Given the description of an element on the screen output the (x, y) to click on. 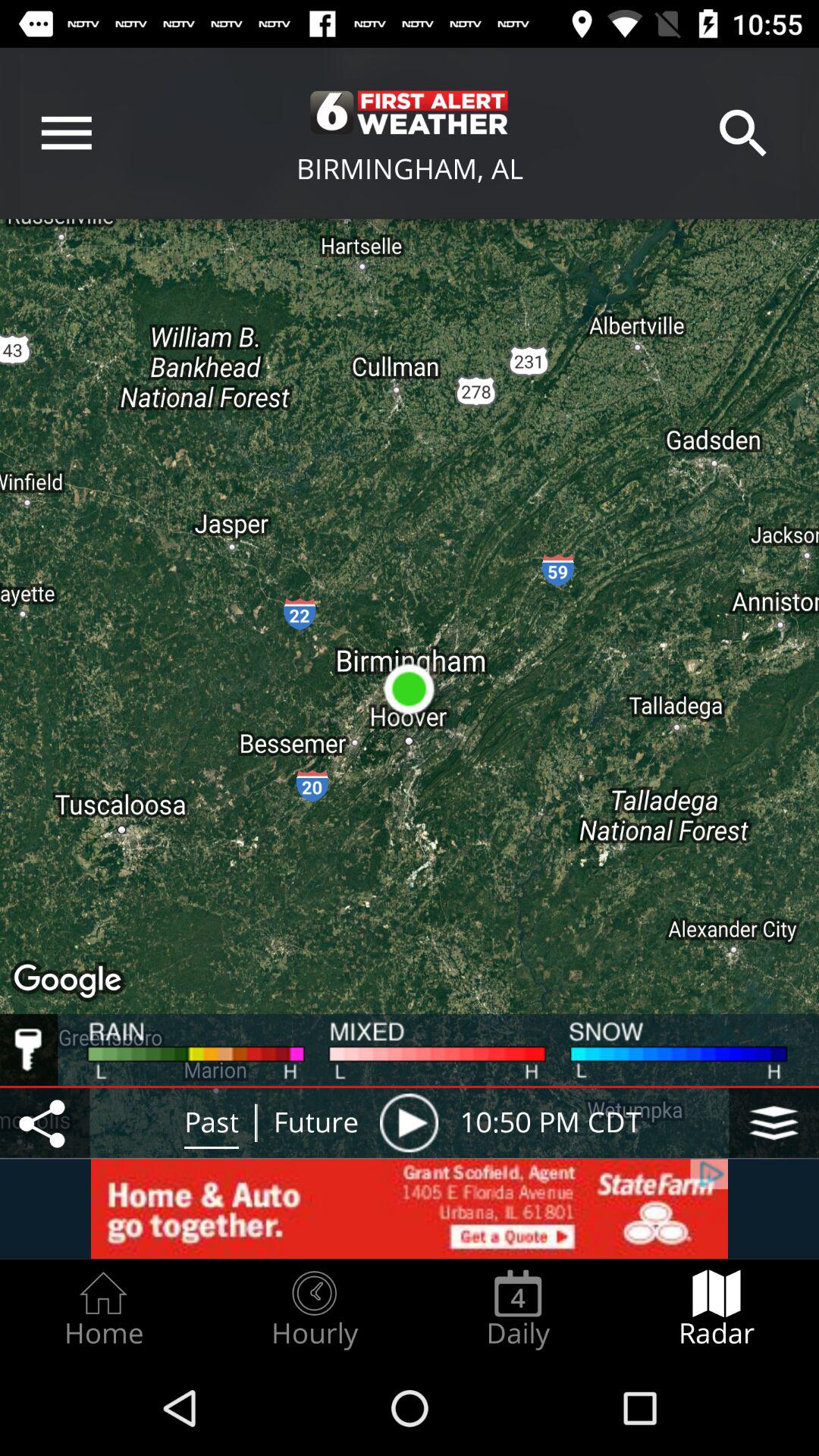
press radar (716, 1309)
